Given the description of an element on the screen output the (x, y) to click on. 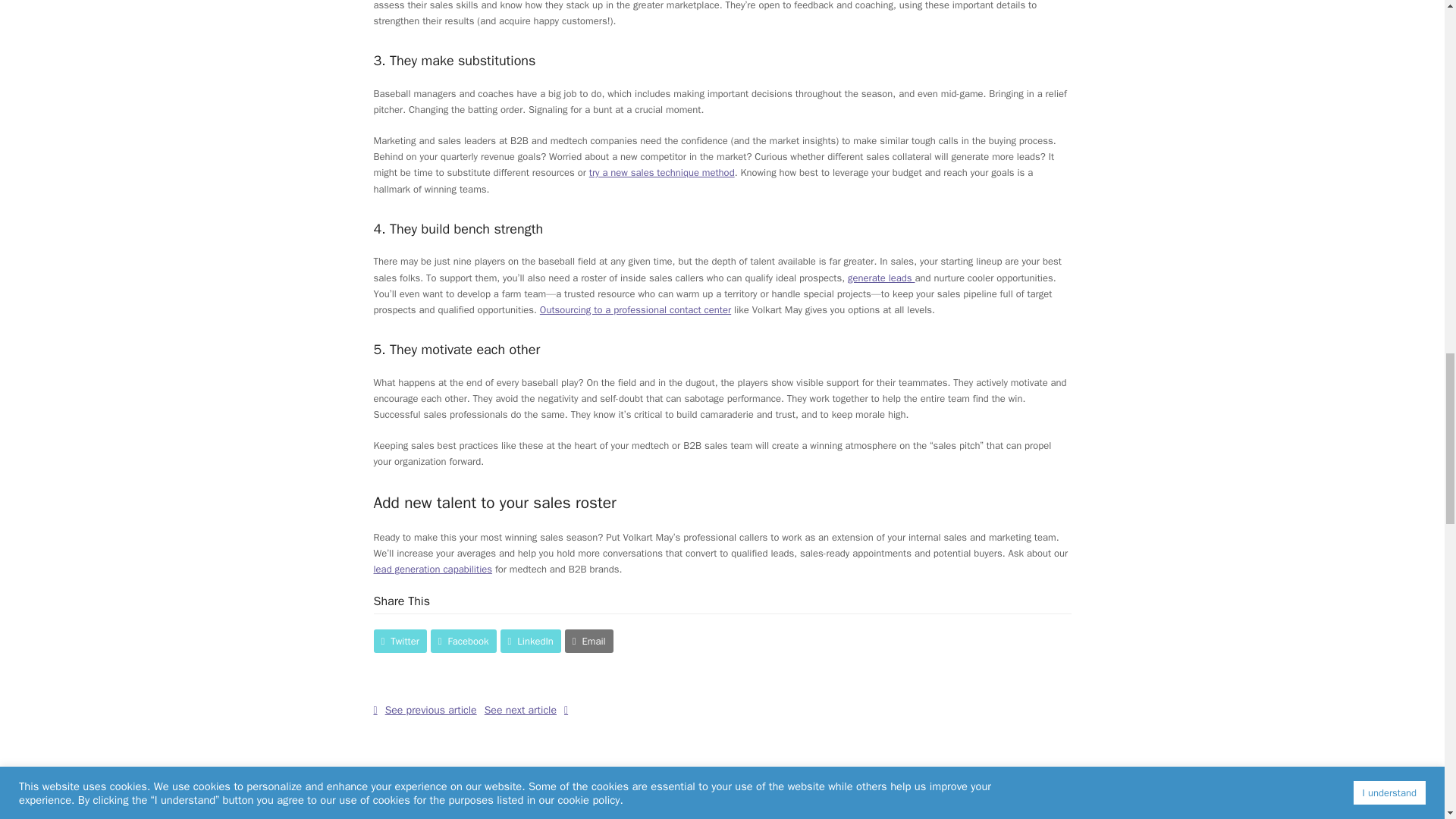
generate leads (881, 277)
try a new sales technique method (662, 172)
See next article (525, 710)
Outsourcing to a professional contact center (635, 309)
Facebook (463, 640)
See previous article (424, 710)
LinkedIn (530, 640)
Twitter (399, 640)
lead generation capabilities (432, 568)
Email (588, 640)
